Given the description of an element on the screen output the (x, y) to click on. 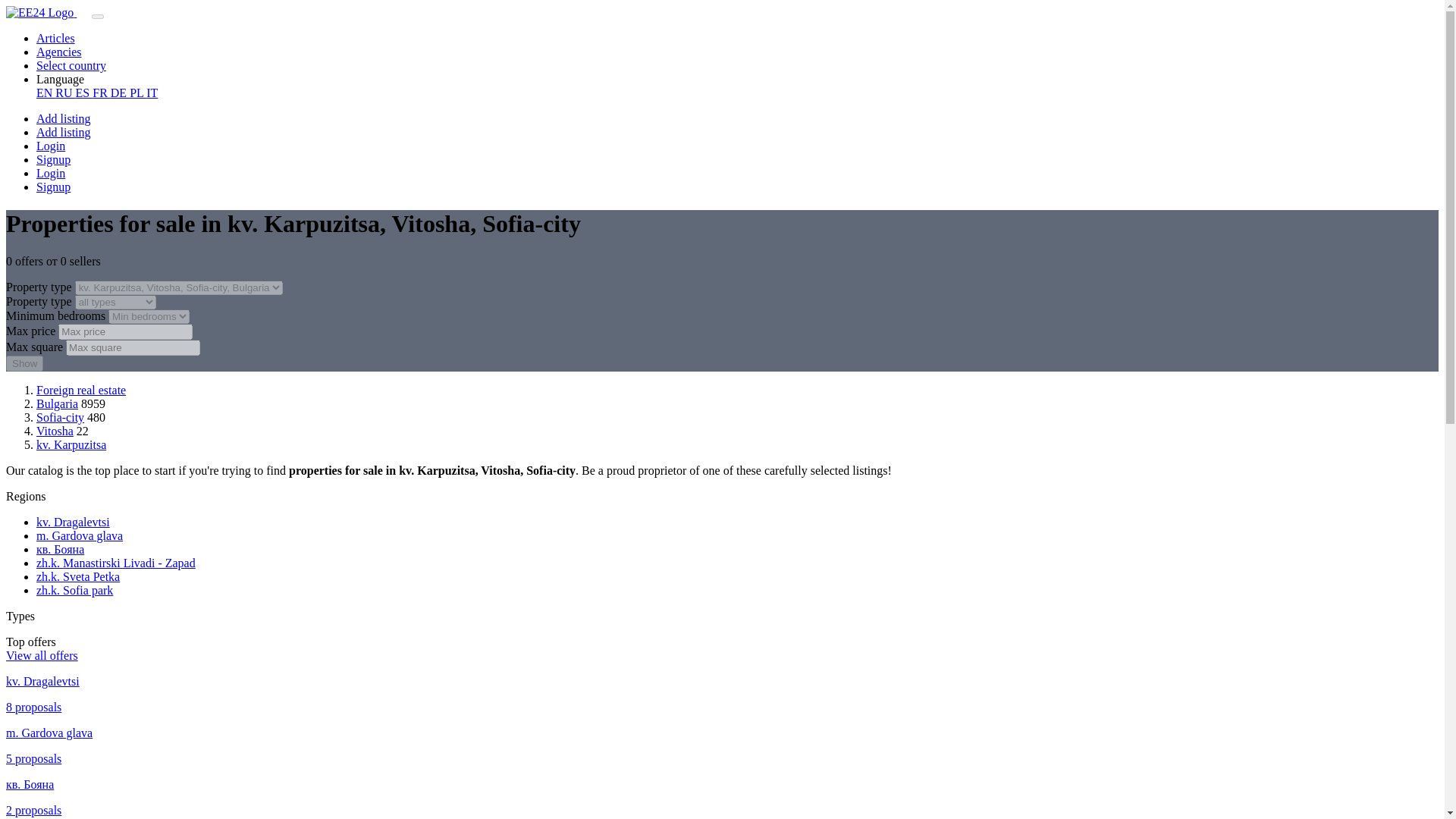
Login (50, 145)
Agencies (58, 51)
Select country (71, 65)
zh.k. Manastirski Livadi - Zapad (115, 562)
Language (60, 78)
Articles (55, 38)
RU (65, 92)
zh.k. Sveta Petka (77, 576)
Signup (52, 159)
zh.k. Sofia park (74, 590)
Sofia-city (60, 417)
Add listing (63, 132)
Login (50, 173)
Location (178, 287)
Foreign real estate (80, 390)
